Given the description of an element on the screen output the (x, y) to click on. 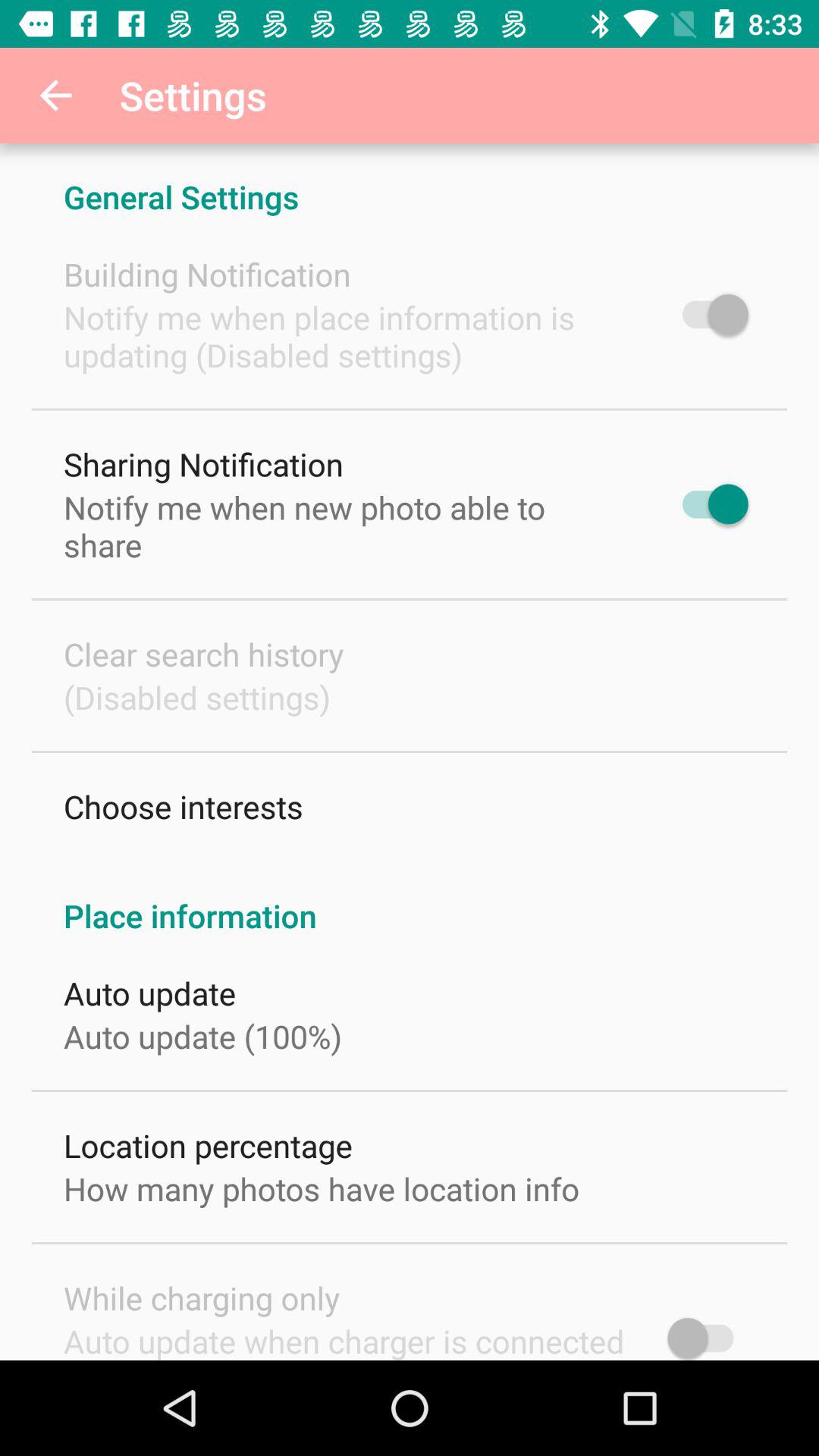
turn off the item to the left of the settings item (55, 95)
